Given the description of an element on the screen output the (x, y) to click on. 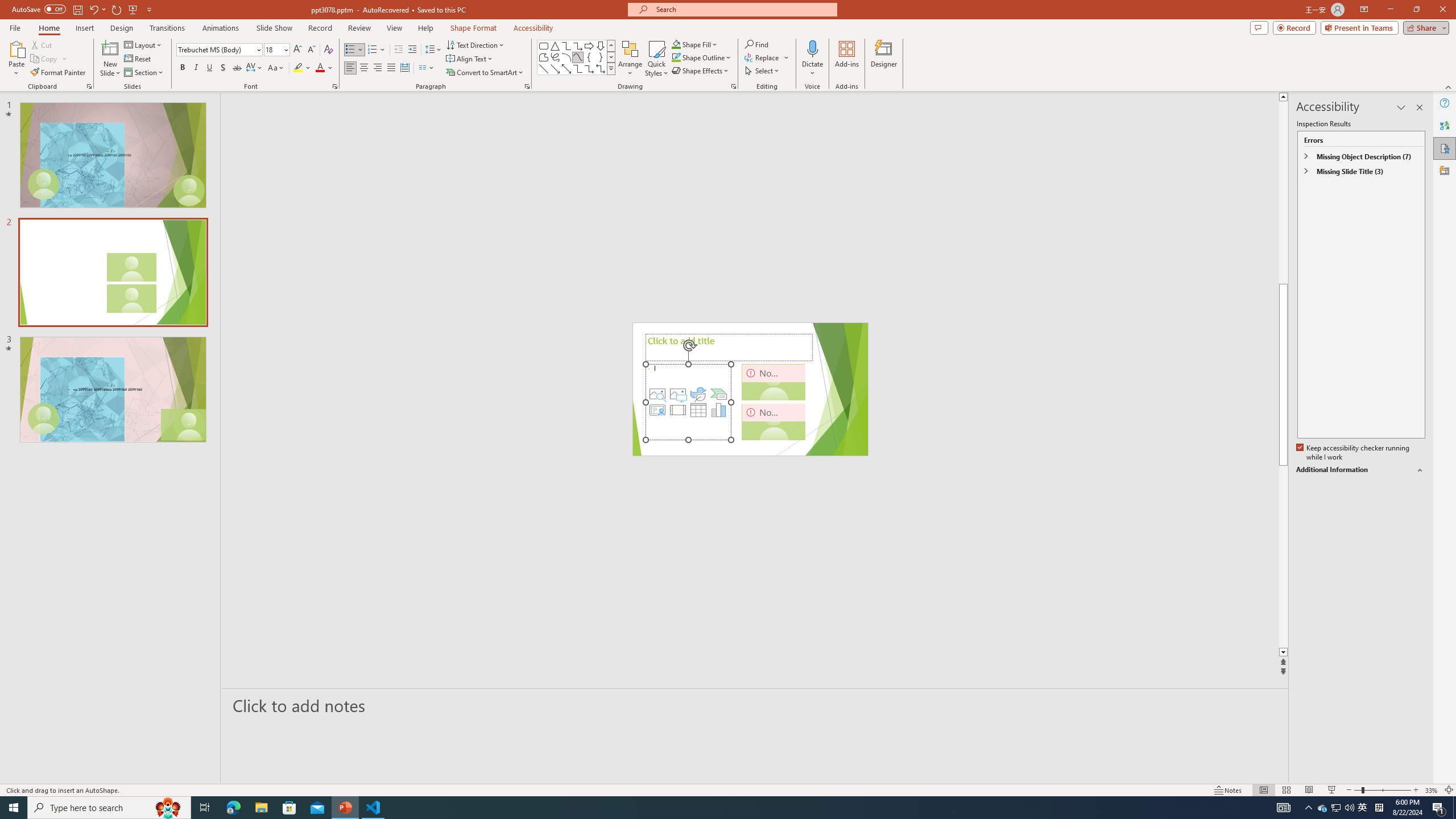
Connector: Elbow Double-Arrow (600, 68)
Stock Images (656, 394)
